Given the description of an element on the screen output the (x, y) to click on. 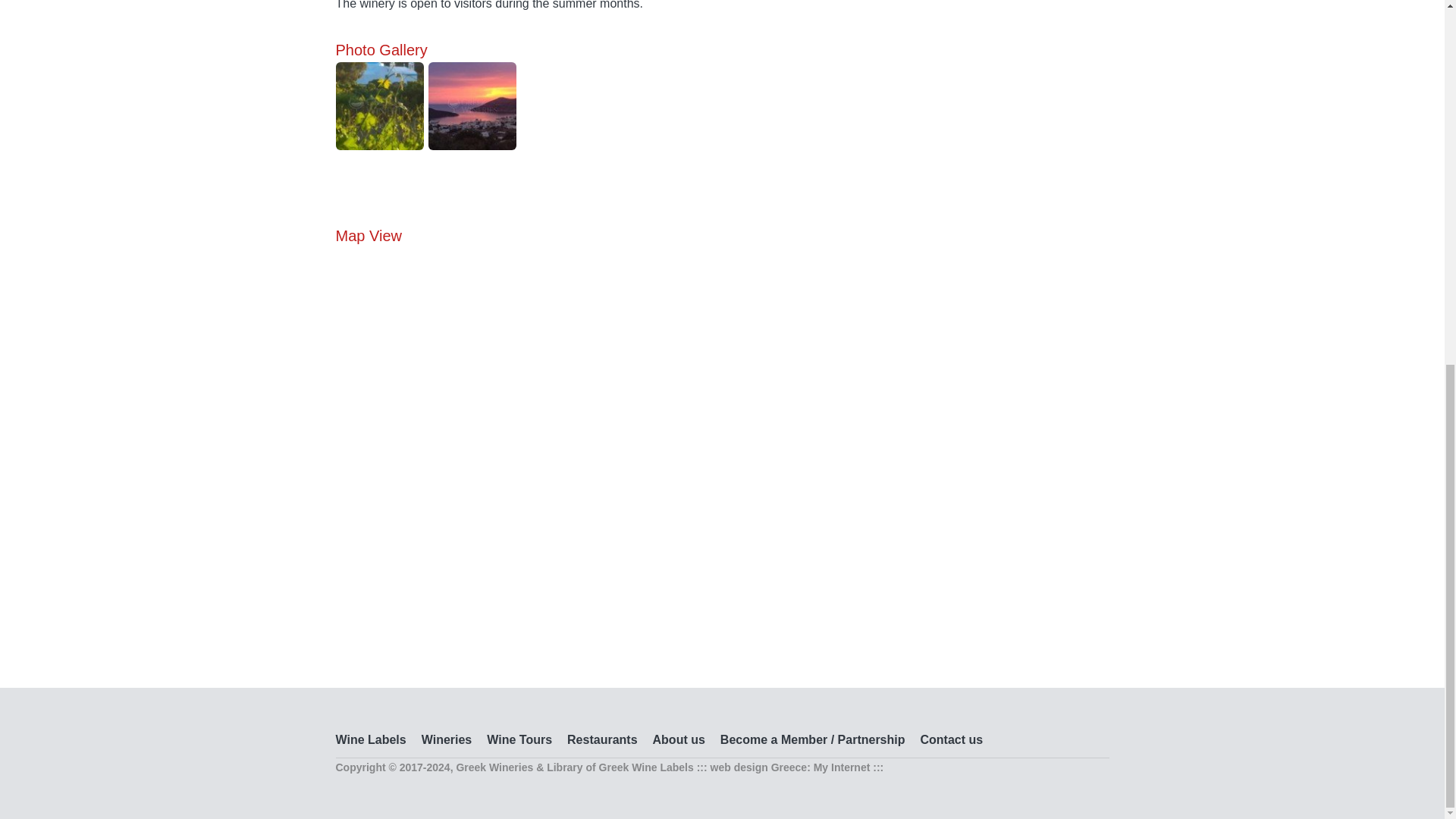
chapel and vines lipsi (378, 105)
view-from-winery-lipsi (472, 105)
Contact us (952, 739)
My Internet (841, 767)
About us (678, 739)
Wine Labels (370, 739)
web design Greece (759, 767)
web design Greece (759, 767)
Restaurants (602, 739)
My Internet (841, 767)
Wine Tours (518, 739)
Wineries (446, 739)
